Given the description of an element on the screen output the (x, y) to click on. 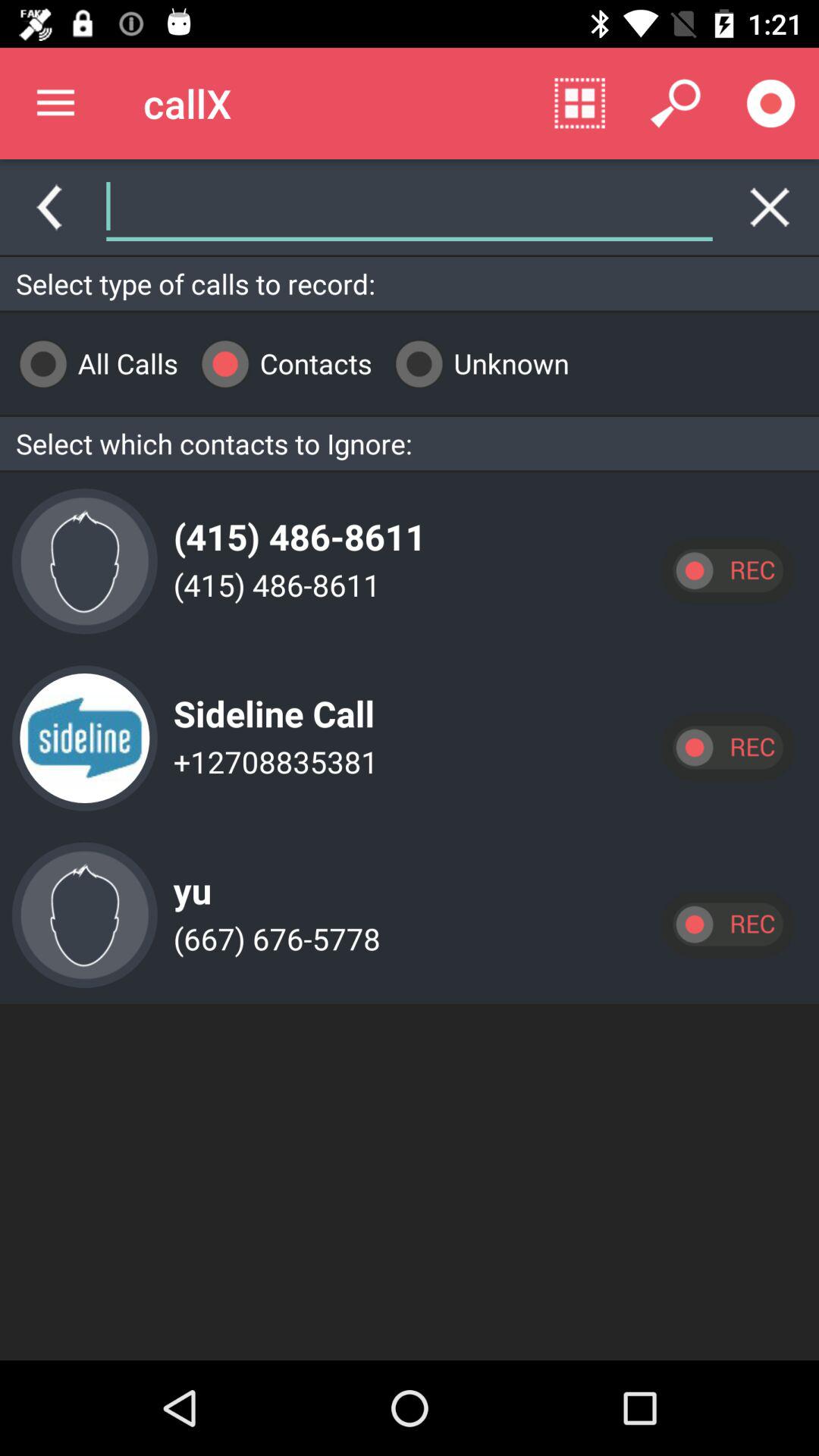
here type the name of the desired contact (409, 206)
